Given the description of an element on the screen output the (x, y) to click on. 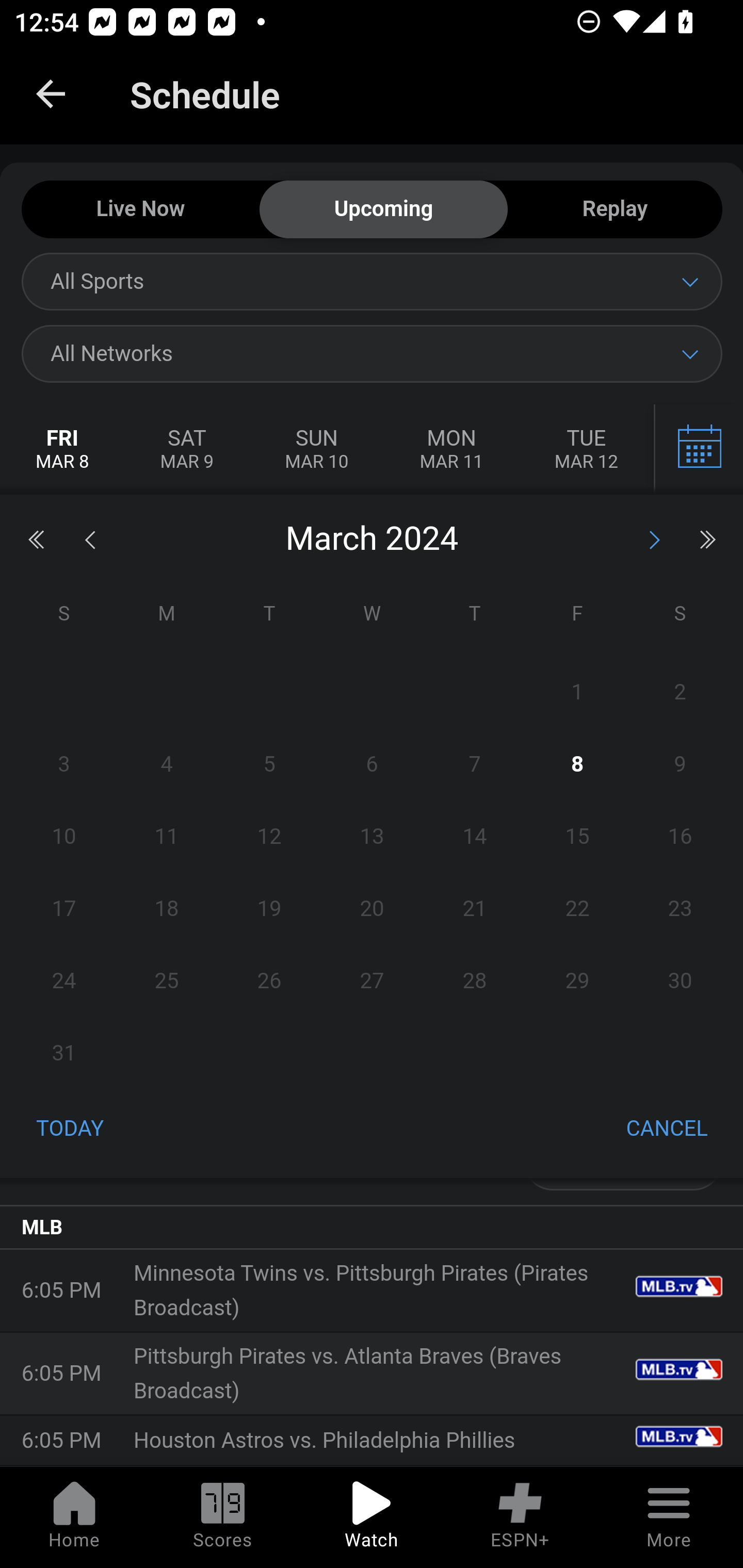
back.button (50, 93)
Live Now (140, 209)
Upcoming (382, 209)
Replay (614, 209)
All Sports (371, 281)
All Networks (371, 353)
FRI MAR 8 (63, 449)
SAT MAR 9 (186, 449)
SUN MAR 10 (316, 449)
MON MAR 11 (451, 449)
TUE MAR 12 (586, 449)
WED MAR 13 (697, 449)
8 (576, 763)
9 (679, 763)
10 (64, 836)
11 (166, 836)
12 (269, 836)
13 (372, 836)
14 (473, 836)
15 (576, 836)
16 (679, 836)
17 (64, 908)
18 (166, 908)
19 (269, 908)
20 (372, 908)
21 (473, 908)
22 (576, 908)
23 (679, 908)
24 (64, 980)
25 (166, 980)
26 (269, 980)
27 (372, 980)
28 (473, 980)
29 (576, 980)
30 (679, 980)
31 (64, 1052)
TODAY (70, 1129)
CANCEL (666, 1129)
Home (74, 1517)
Scores (222, 1517)
ESPN+ (519, 1517)
More (668, 1517)
